Given the description of an element on the screen output the (x, y) to click on. 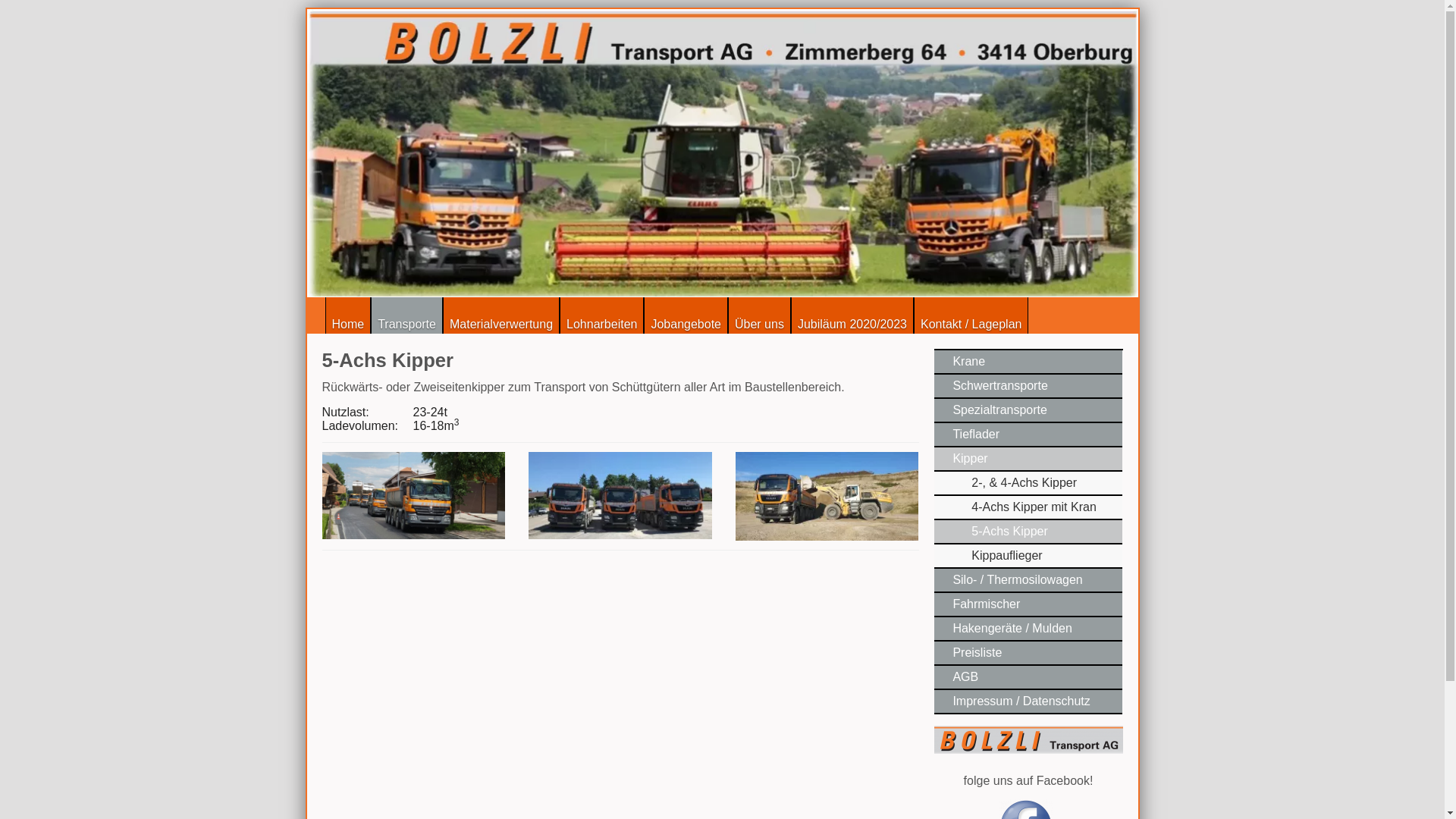
Schwertransporte Element type: text (1028, 386)
Kippauflieger Element type: text (1028, 556)
Jobangebote Element type: text (685, 315)
Fahrmischer Element type: text (1028, 605)
Spezialtransporte Element type: text (1028, 410)
Kipper Element type: text (1028, 459)
Lohnarbeiten Element type: text (601, 315)
Silo- / Thermosilowagen Element type: text (1028, 580)
Krane Element type: text (1028, 362)
2-, & 4-Achs Kipper Element type: text (1028, 483)
Tieflader Element type: text (1028, 435)
Transporte Element type: text (406, 315)
Home Element type: text (347, 315)
Kontakt / Lageplan Element type: text (970, 315)
4-Achs Kipper mit Kran Element type: text (1028, 507)
Impressum / Datenschutz Element type: text (1028, 702)
AGB Element type: text (1028, 677)
Materialverwertung Element type: text (500, 315)
5-Achs Kipper Element type: text (1028, 532)
Preisliste Element type: text (1028, 653)
